Given the description of an element on the screen output the (x, y) to click on. 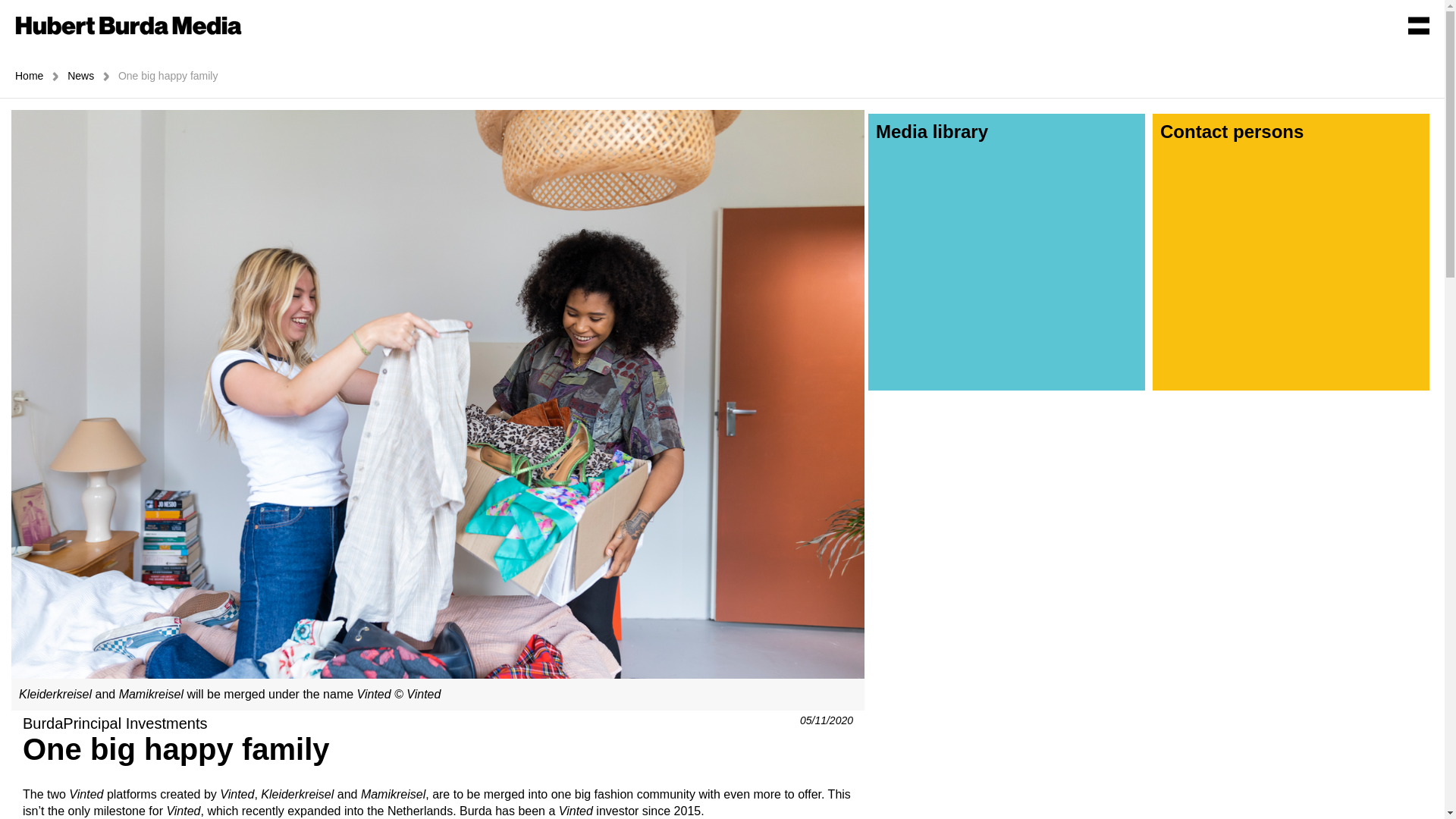
News (81, 75)
Navigation (1417, 24)
Home (30, 75)
